Given the description of an element on the screen output the (x, y) to click on. 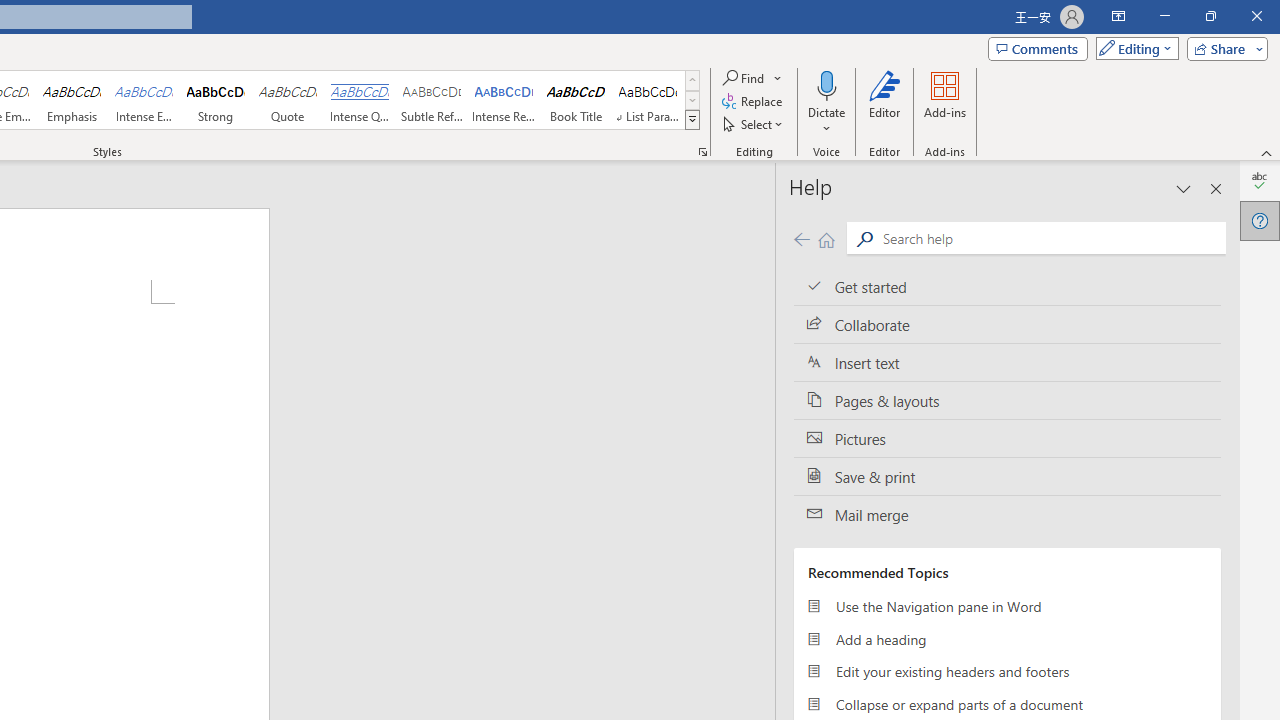
Save & print (1007, 476)
Mail merge (1007, 515)
Quote (287, 100)
Intense Quote (359, 100)
Strong (216, 100)
Subtle Reference (431, 100)
